Given the description of an element on the screen output the (x, y) to click on. 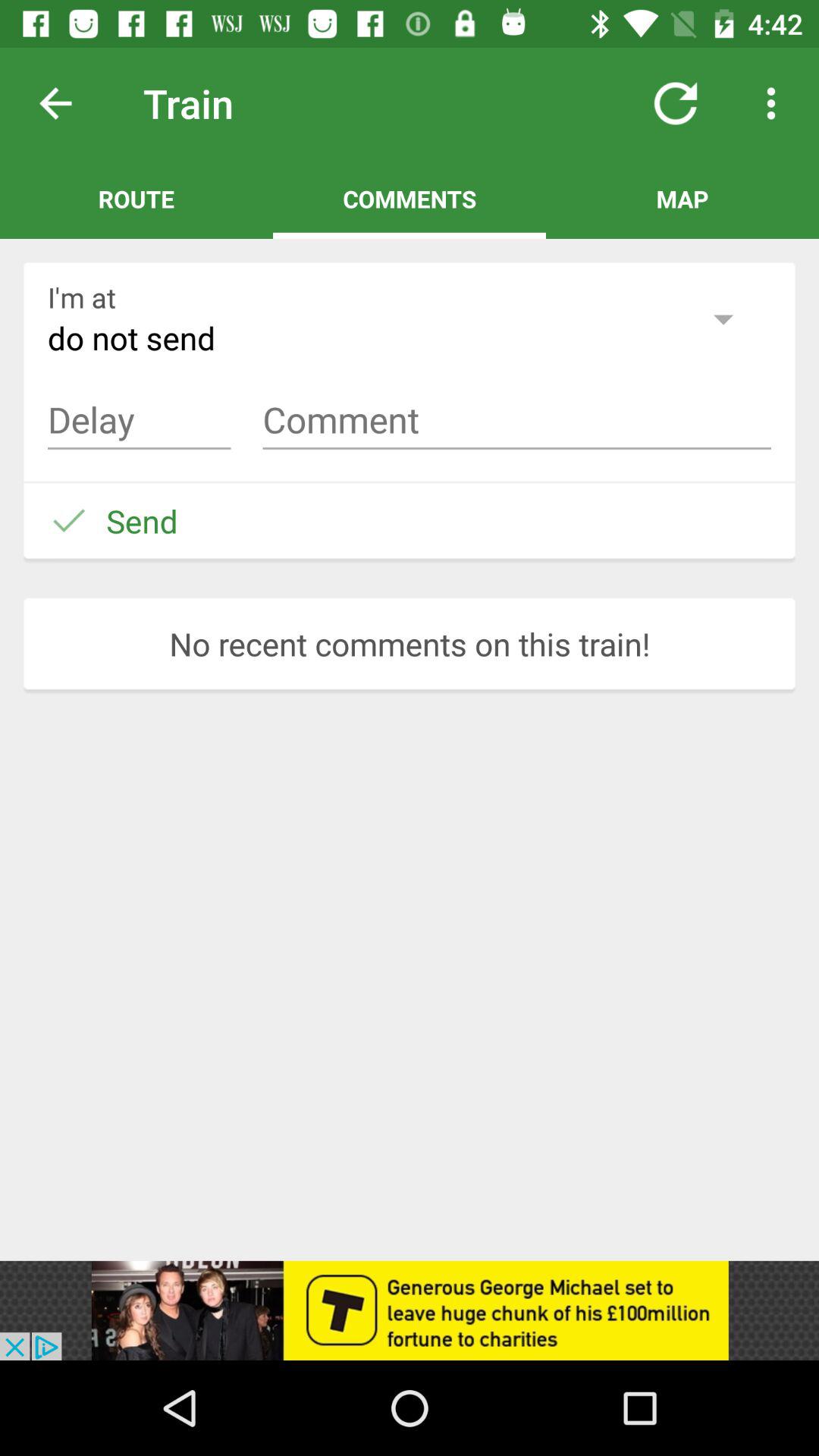
add a delay time (138, 420)
